Given the description of an element on the screen output the (x, y) to click on. 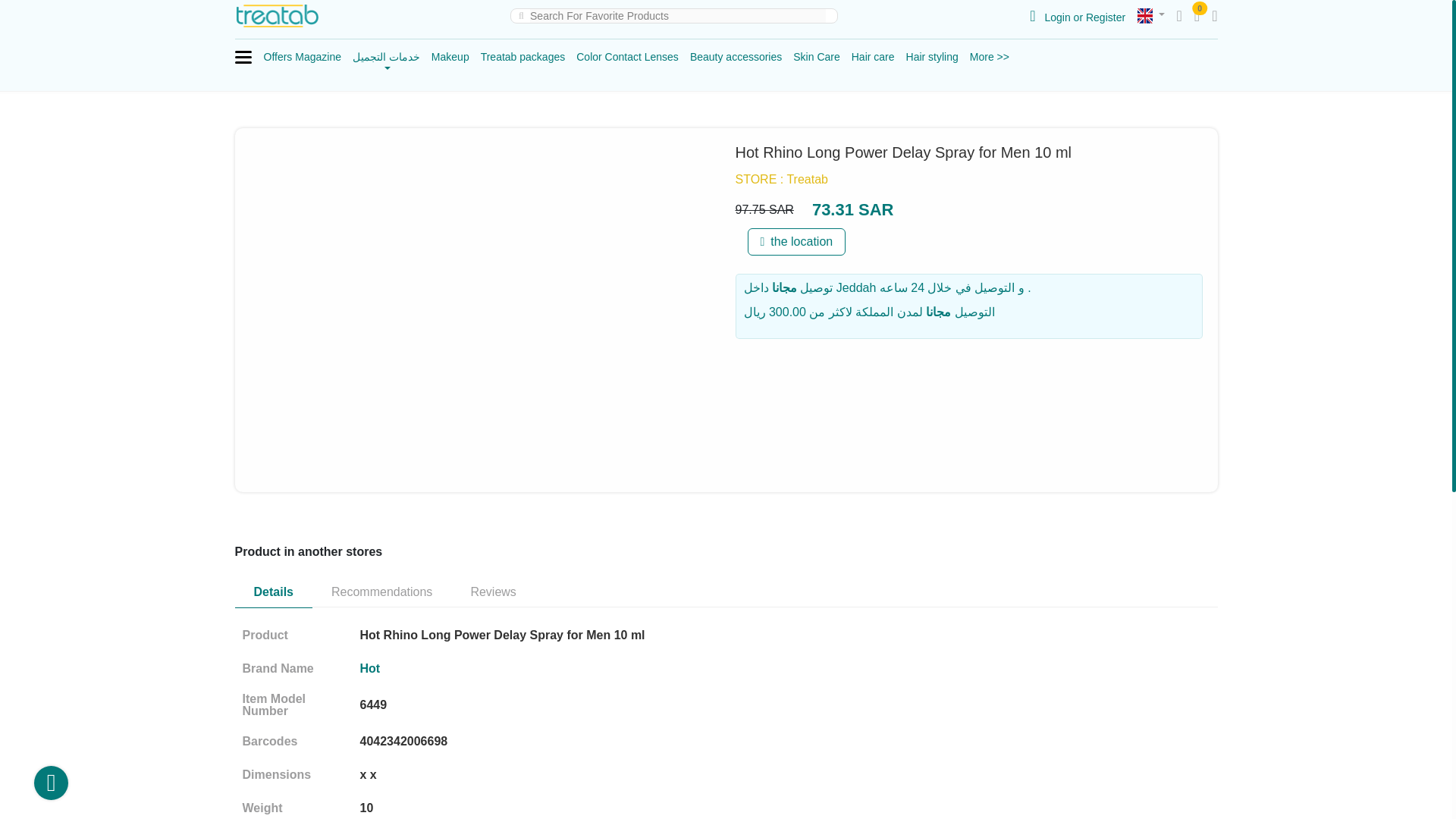
Hair care (873, 56)
Color Contact Lenses (627, 56)
Beauty accessories (735, 56)
Treatab packages (523, 56)
Makeup (449, 56)
Login or Register (1077, 17)
Offers Magazine (301, 56)
Skin Care (816, 56)
Hair styling (931, 56)
